Given the description of an element on the screen output the (x, y) to click on. 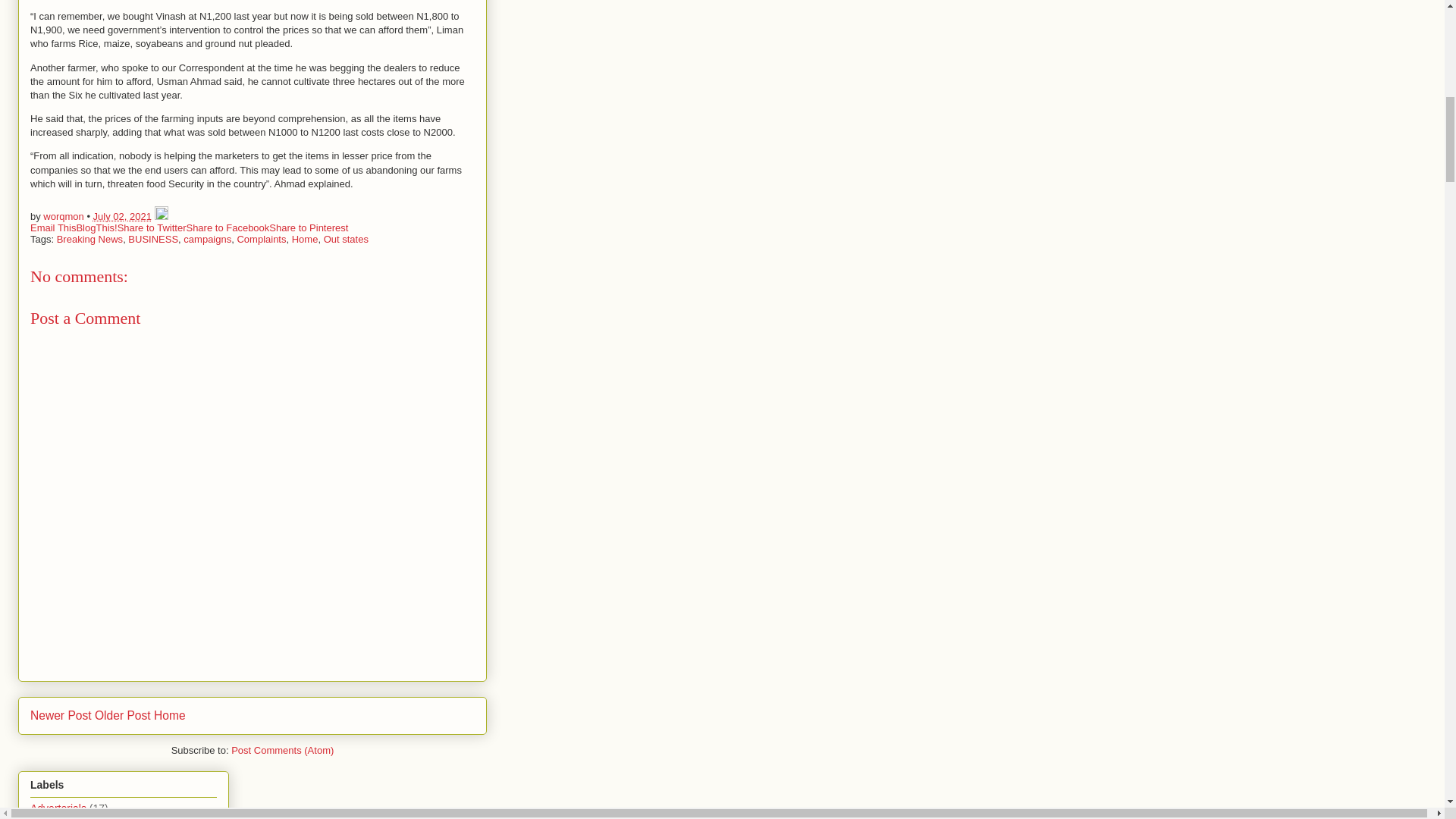
Email This (52, 226)
Email This (52, 226)
Share to Facebook (227, 226)
permanent link (122, 215)
BlogThis! (95, 226)
Edit Post (161, 215)
Complaints (260, 238)
Share to Pinterest (308, 226)
BUSINESS (152, 238)
July 02, 2021 (122, 215)
Home (305, 238)
campaigns (207, 238)
Share to Facebook (227, 226)
Breaking News (89, 238)
Home (170, 715)
